Given the description of an element on the screen output the (x, y) to click on. 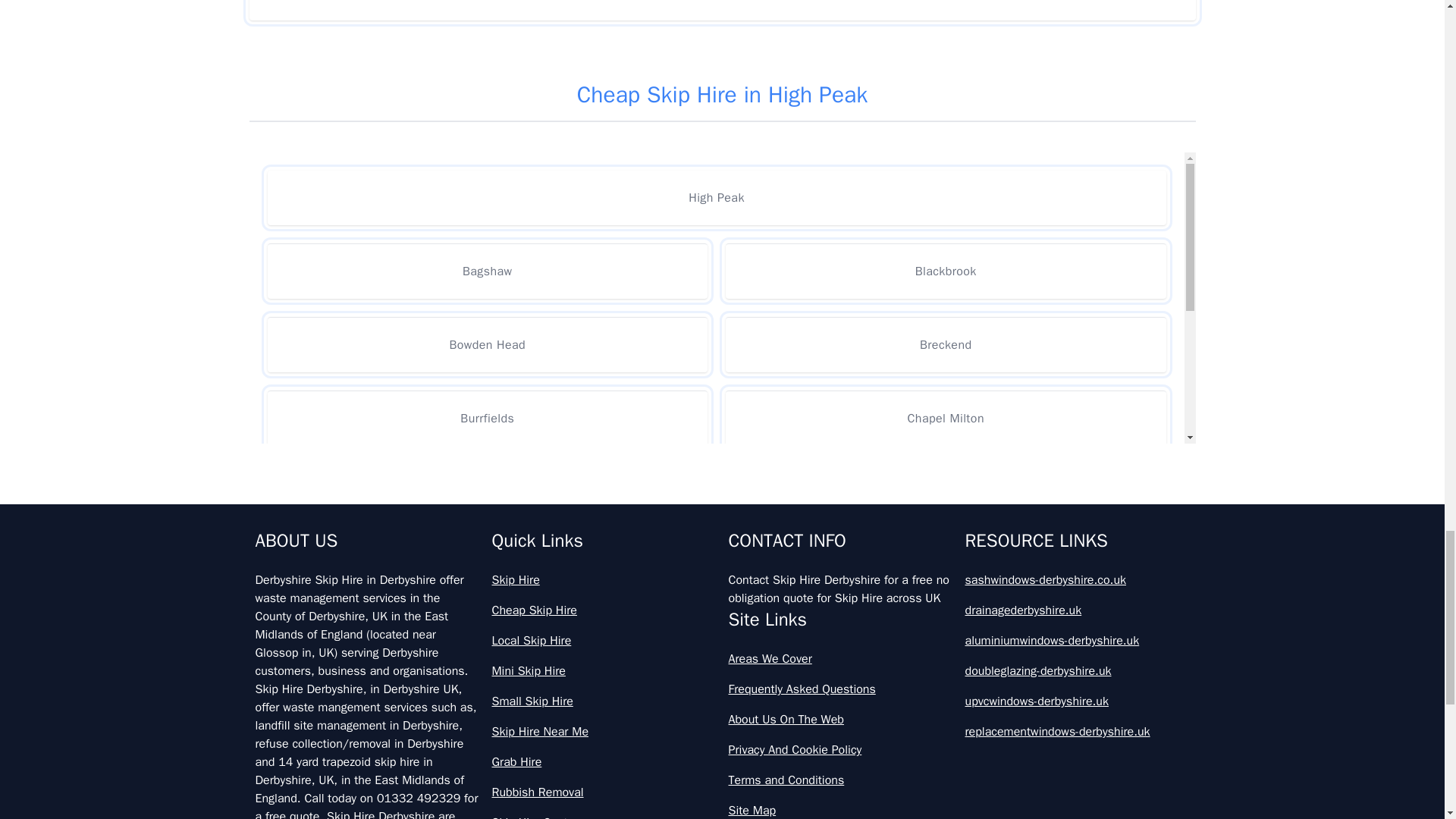
Blackbrook (945, 270)
Malcoff (945, 491)
Bagshaw (486, 270)
aluminiumwindows-derbyshire.uk (1076, 640)
Burrfields (486, 417)
replacementwindows-derbyshire.uk (1076, 731)
drainagederbyshire.uk (1076, 610)
Townend (945, 564)
Bowden Head (486, 344)
Site Map (840, 810)
